Given the description of an element on the screen output the (x, y) to click on. 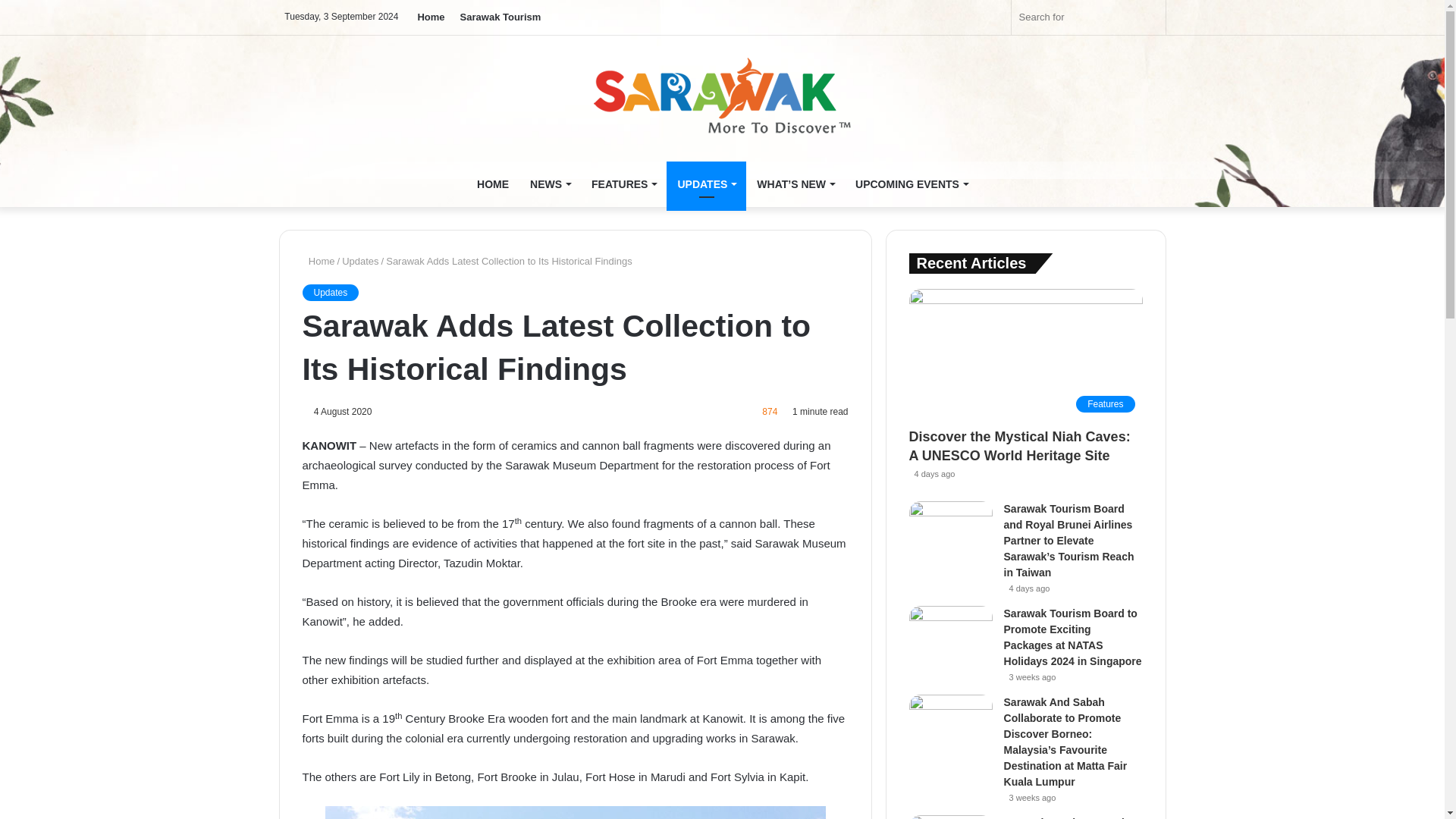
HOME (492, 183)
Features (1025, 354)
NEWS (549, 183)
UPCOMING EVENTS (911, 183)
Search for (1088, 17)
Home (430, 17)
Home (317, 260)
Updates (360, 260)
Updates (329, 291)
Sarawak Tourism Hornbill Trail Newsletter (722, 97)
